Given the description of an element on the screen output the (x, y) to click on. 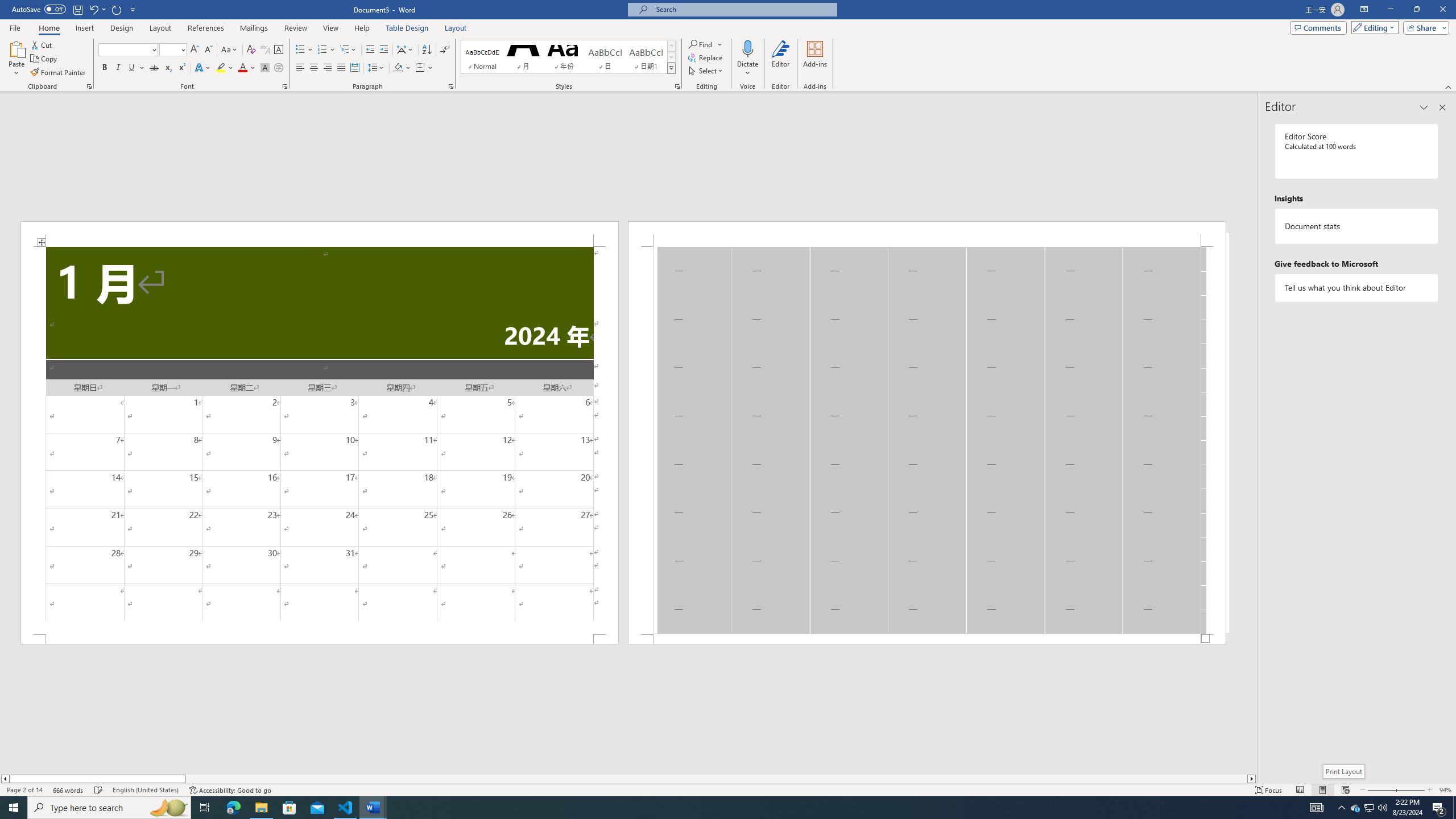
Table Design (407, 28)
Footer -Section 1- (926, 638)
Multilevel List (347, 49)
Copy (45, 58)
